Given the description of an element on the screen output the (x, y) to click on. 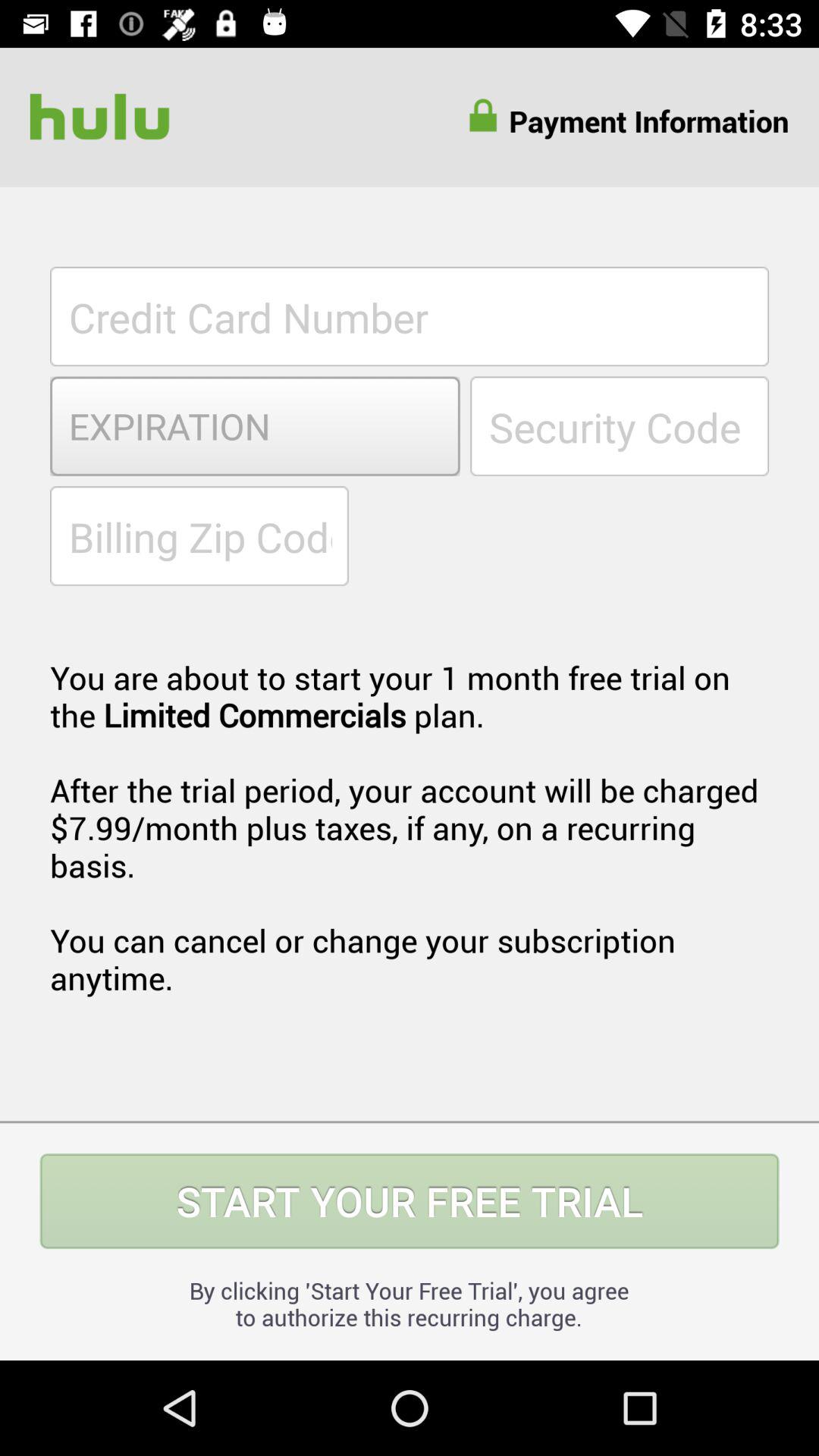
open the item on the left (199, 535)
